Given the description of an element on the screen output the (x, y) to click on. 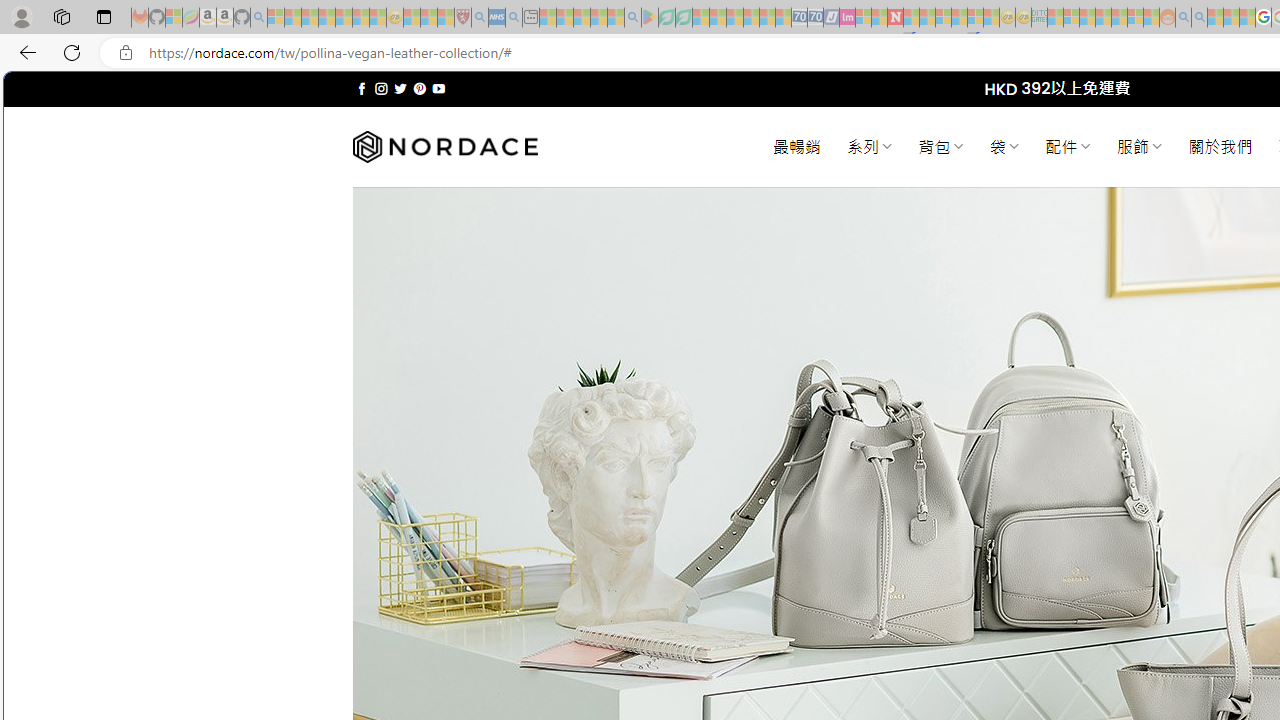
Jobs - lastminute.com Investor Portal - Sleeping (847, 17)
Follow on YouTube (438, 88)
Follow on Pinterest (419, 88)
